Given the description of an element on the screen output the (x, y) to click on. 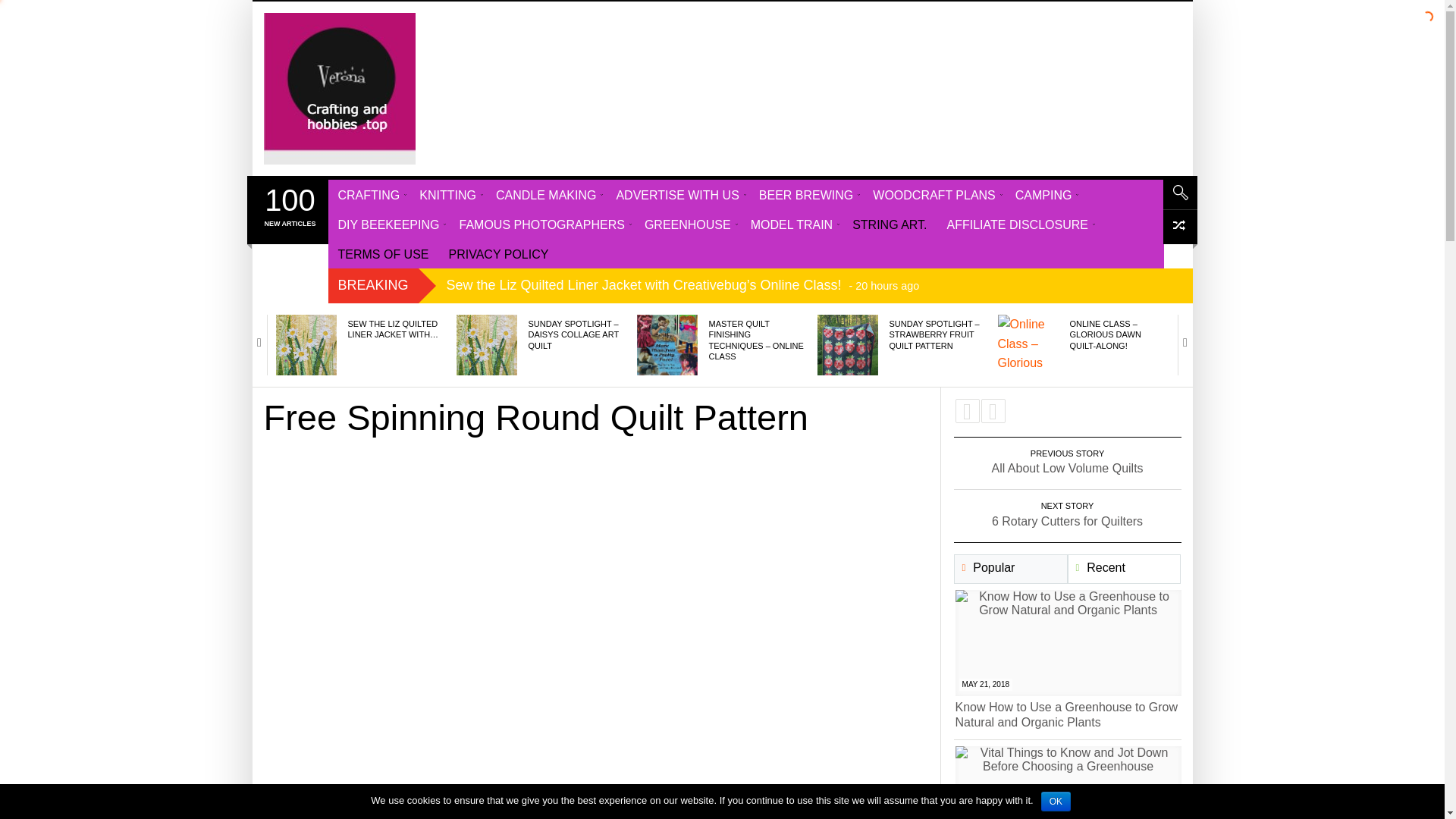
CRAFTING (368, 194)
KNITTING (447, 194)
Hobbies and crafts (338, 88)
CANDLE MAKING (545, 194)
